Given the description of an element on the screen output the (x, y) to click on. 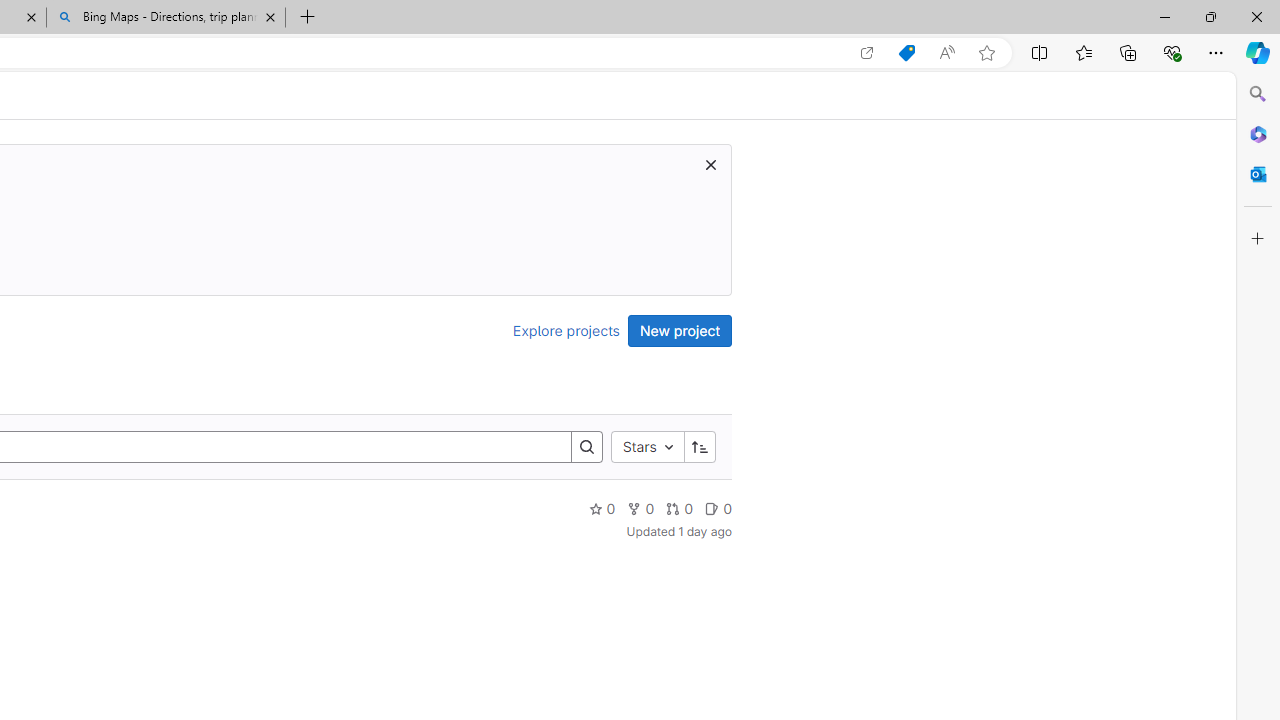
Class: s16 gl-icon gl-button-icon  (710, 164)
Class: s14 gl-mr-2 (712, 508)
0 (718, 508)
Explore projects (565, 330)
Stars (647, 445)
